Given the description of an element on the screen output the (x, y) to click on. 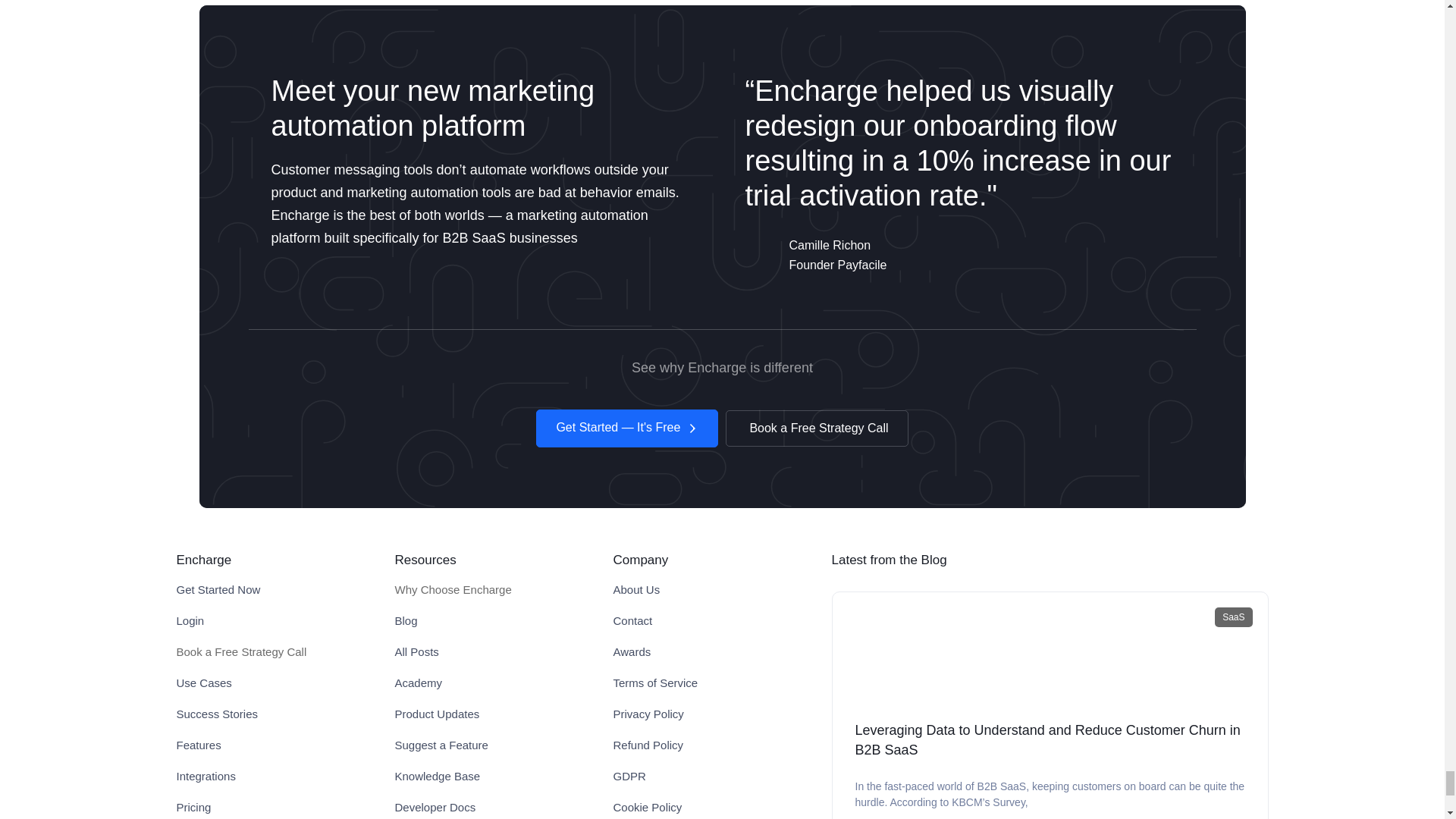
camille-photo (762, 253)
